Given the description of an element on the screen output the (x, y) to click on. 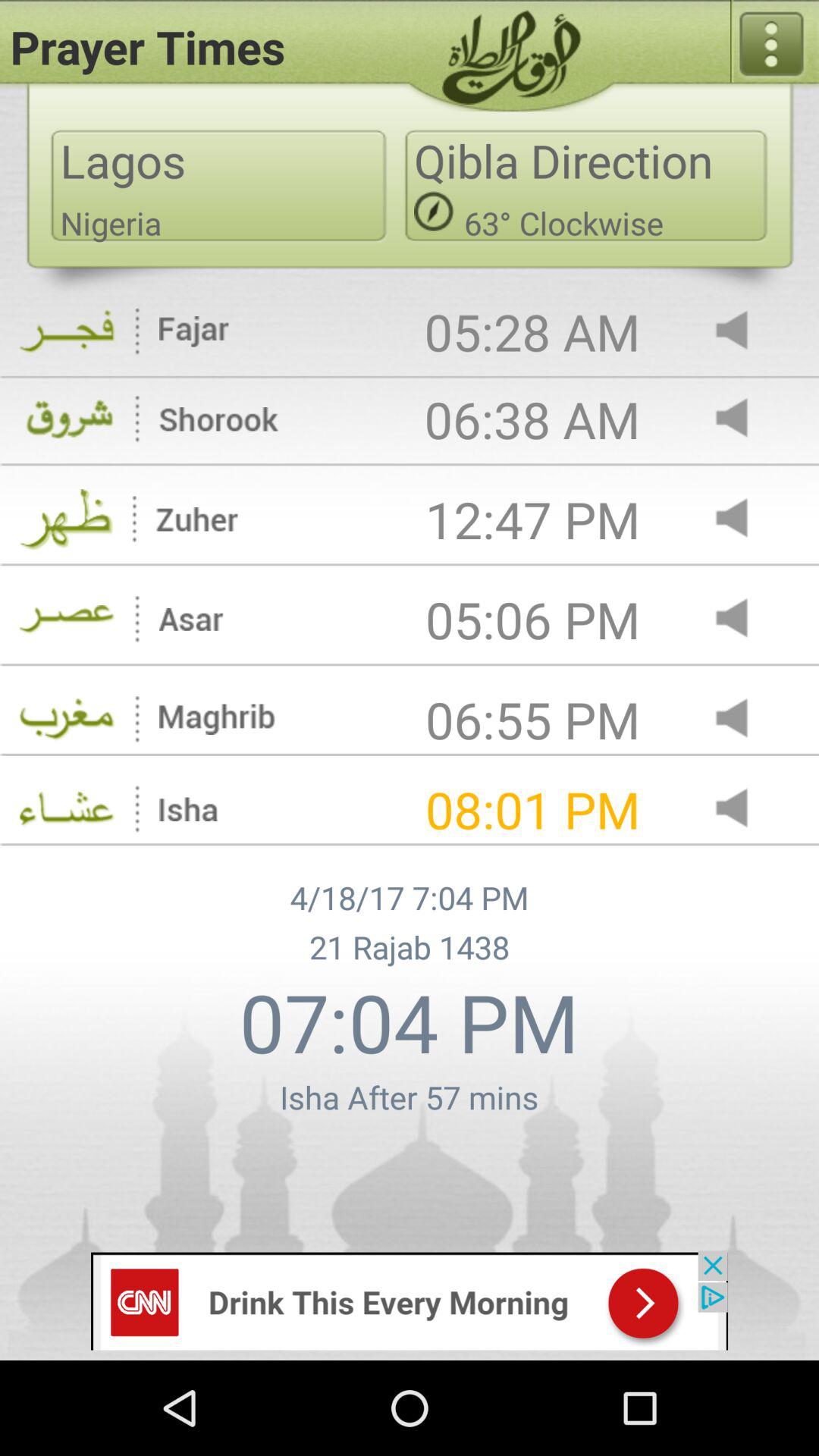
play sound (744, 719)
